Given the description of an element on the screen output the (x, y) to click on. 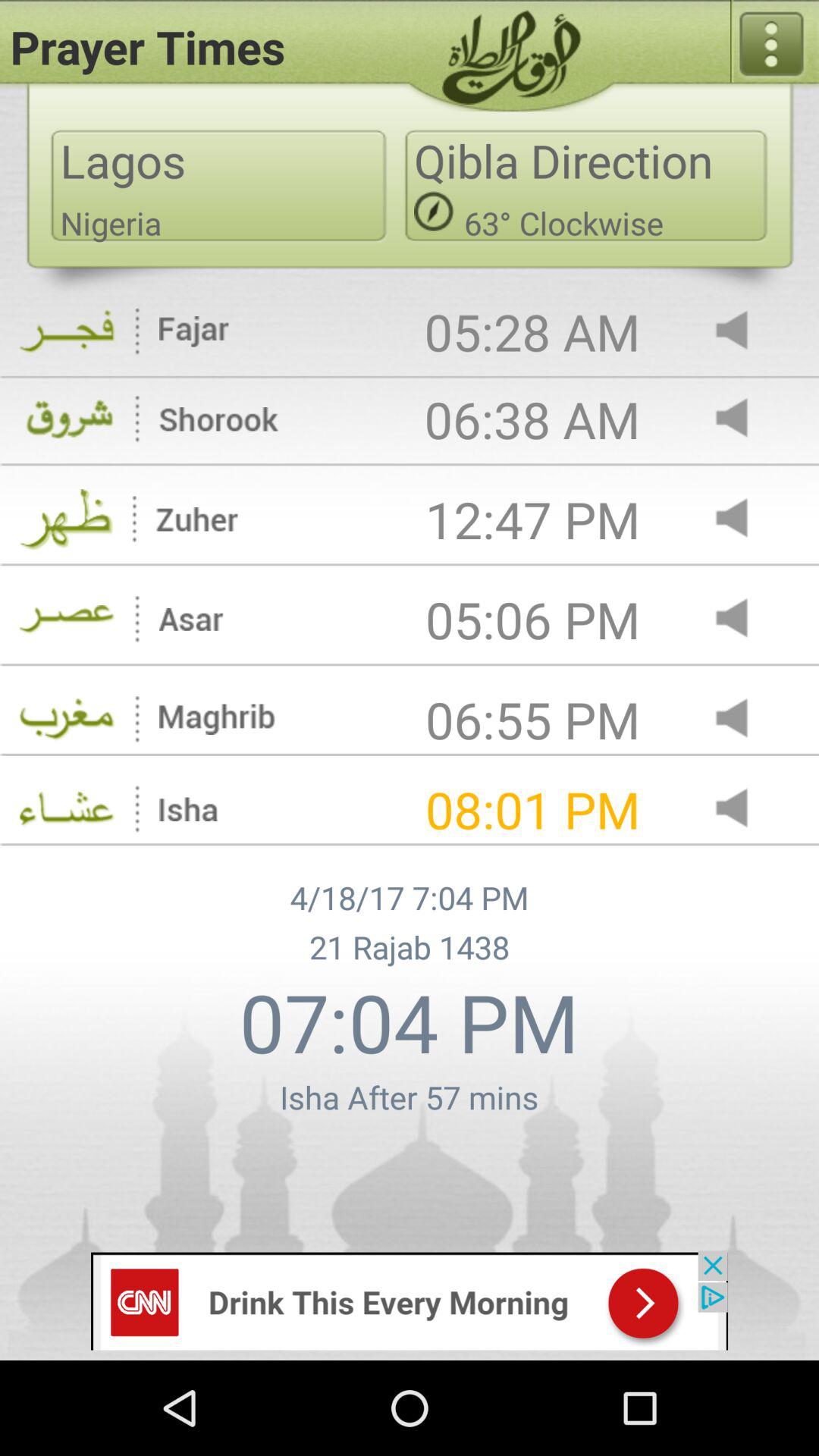
play sound (744, 719)
